Given the description of an element on the screen output the (x, y) to click on. 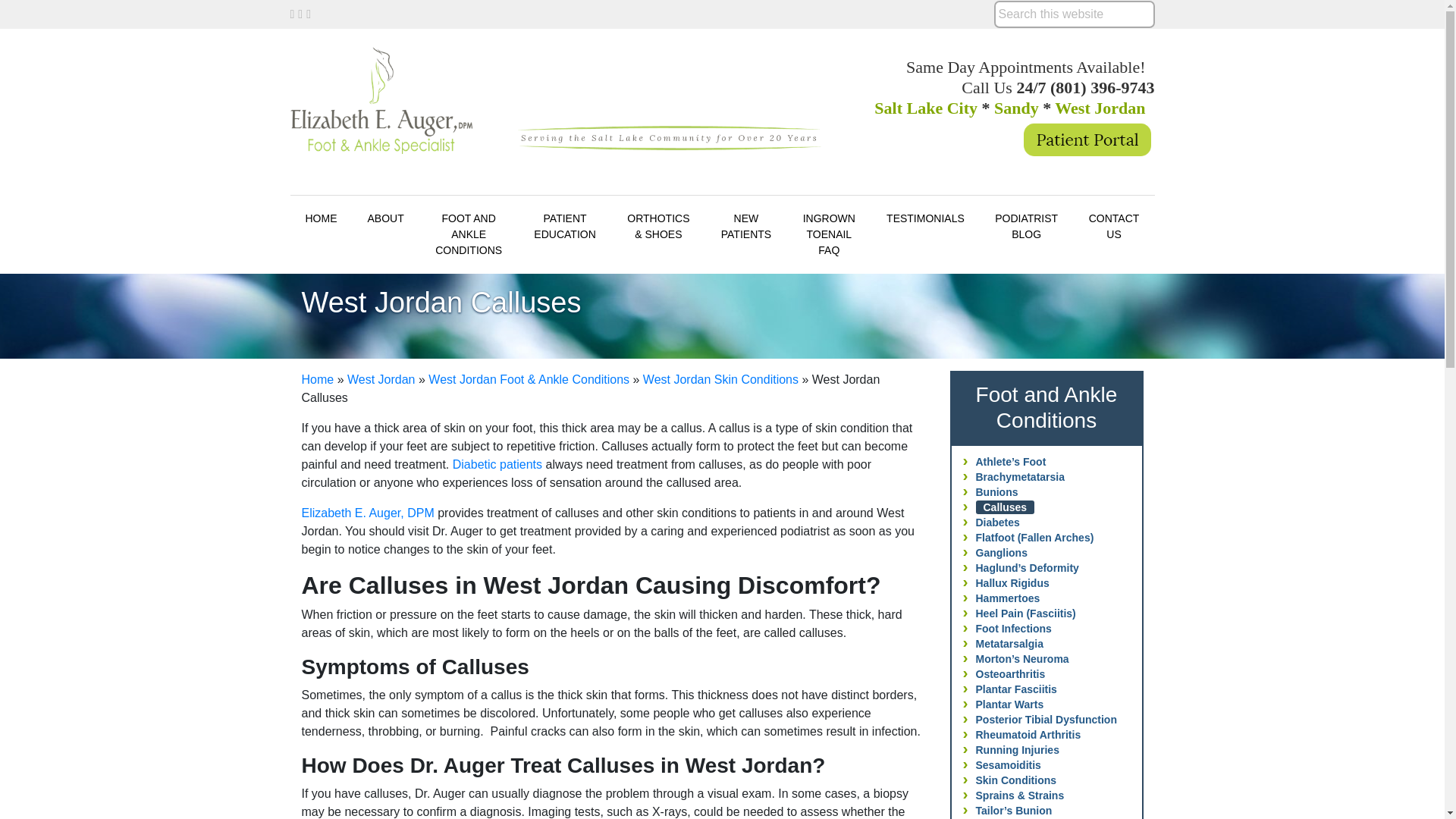
Sandy (1016, 107)
INGROWN TOENAIL FAQ (829, 234)
PATIENT EDUCATION (564, 226)
FOOT AND ANKLE CONDITIONS (468, 234)
Salt Lake City (925, 107)
TESTIMONIALS (924, 218)
PODIATRIST BLOG (1026, 226)
HOME (320, 218)
Site Name (380, 111)
West Jordan (1099, 107)
NEW PATIENTS (745, 226)
ABOUT (385, 218)
